Given the description of an element on the screen output the (x, y) to click on. 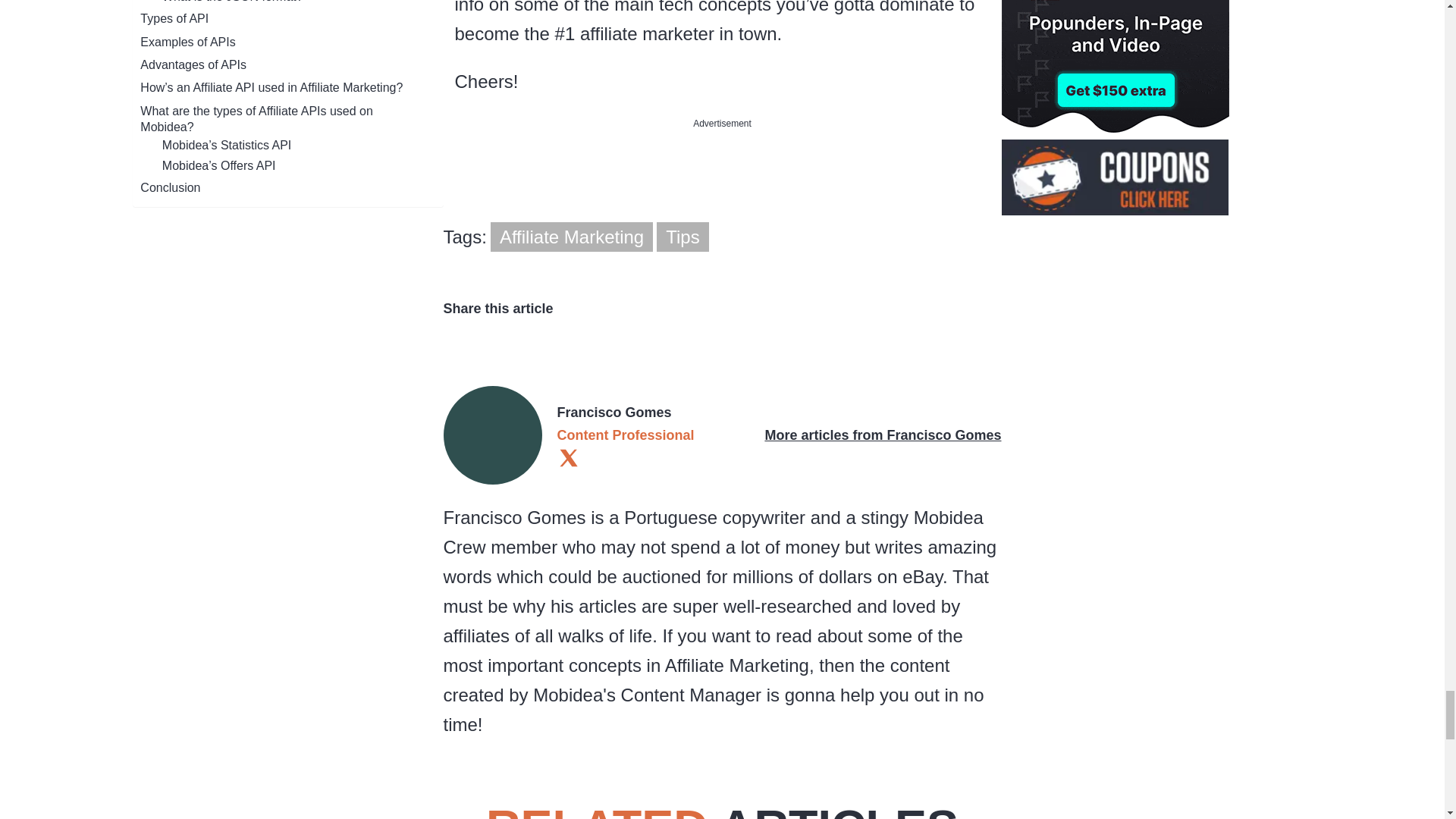
Facebook (456, 335)
banner placement 2 (722, 191)
